Given the description of an element on the screen output the (x, y) to click on. 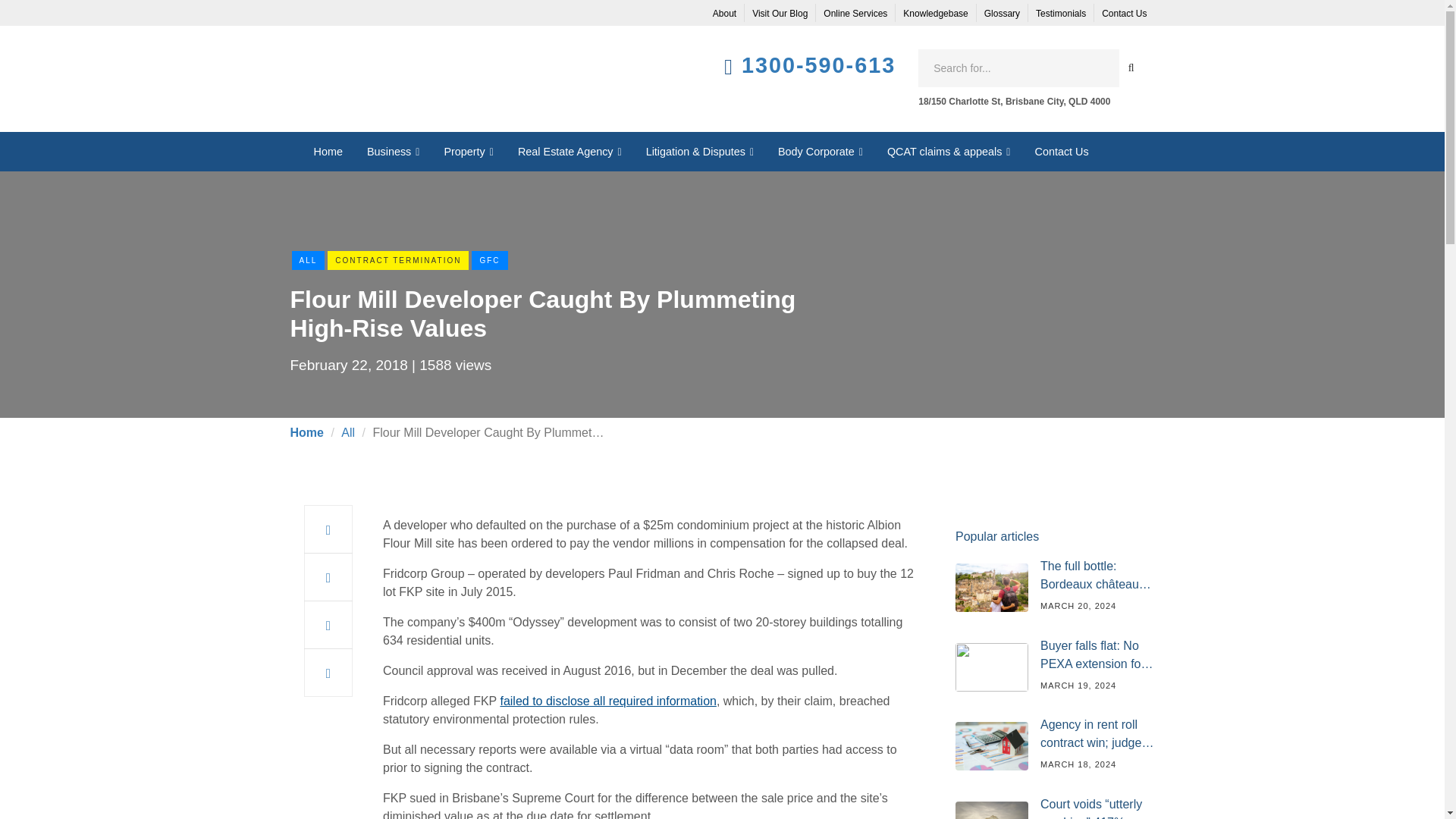
Knowledgebase (935, 13)
About (724, 13)
Visit Our Blog (779, 13)
Online Services (855, 13)
Business (393, 151)
Real Estate Agency (569, 151)
Testimonials (1060, 13)
Glossary (1001, 13)
Property (467, 151)
Home (328, 151)
